Given the description of an element on the screen output the (x, y) to click on. 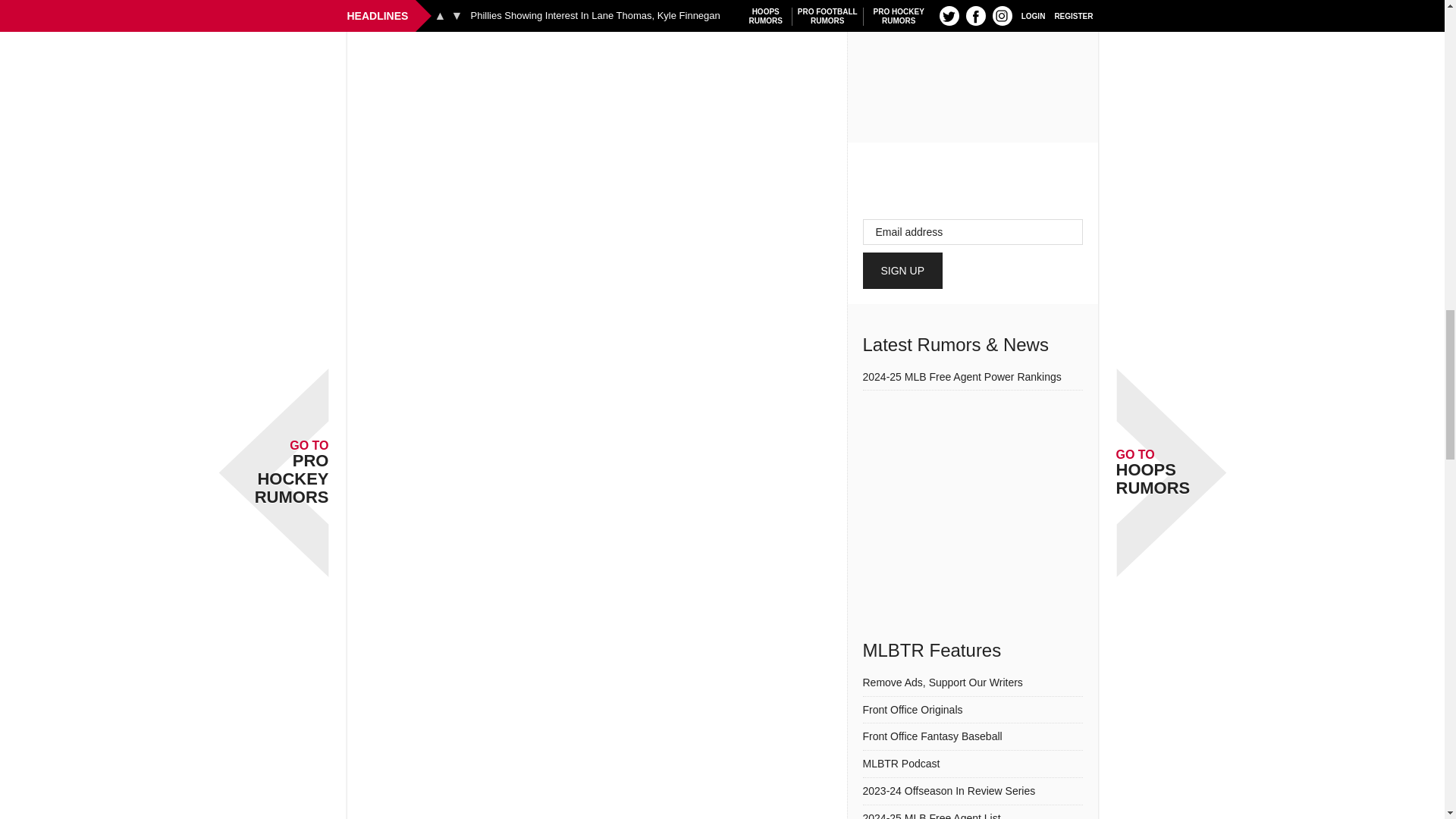
Sign Up (903, 270)
